Given the description of an element on the screen output the (x, y) to click on. 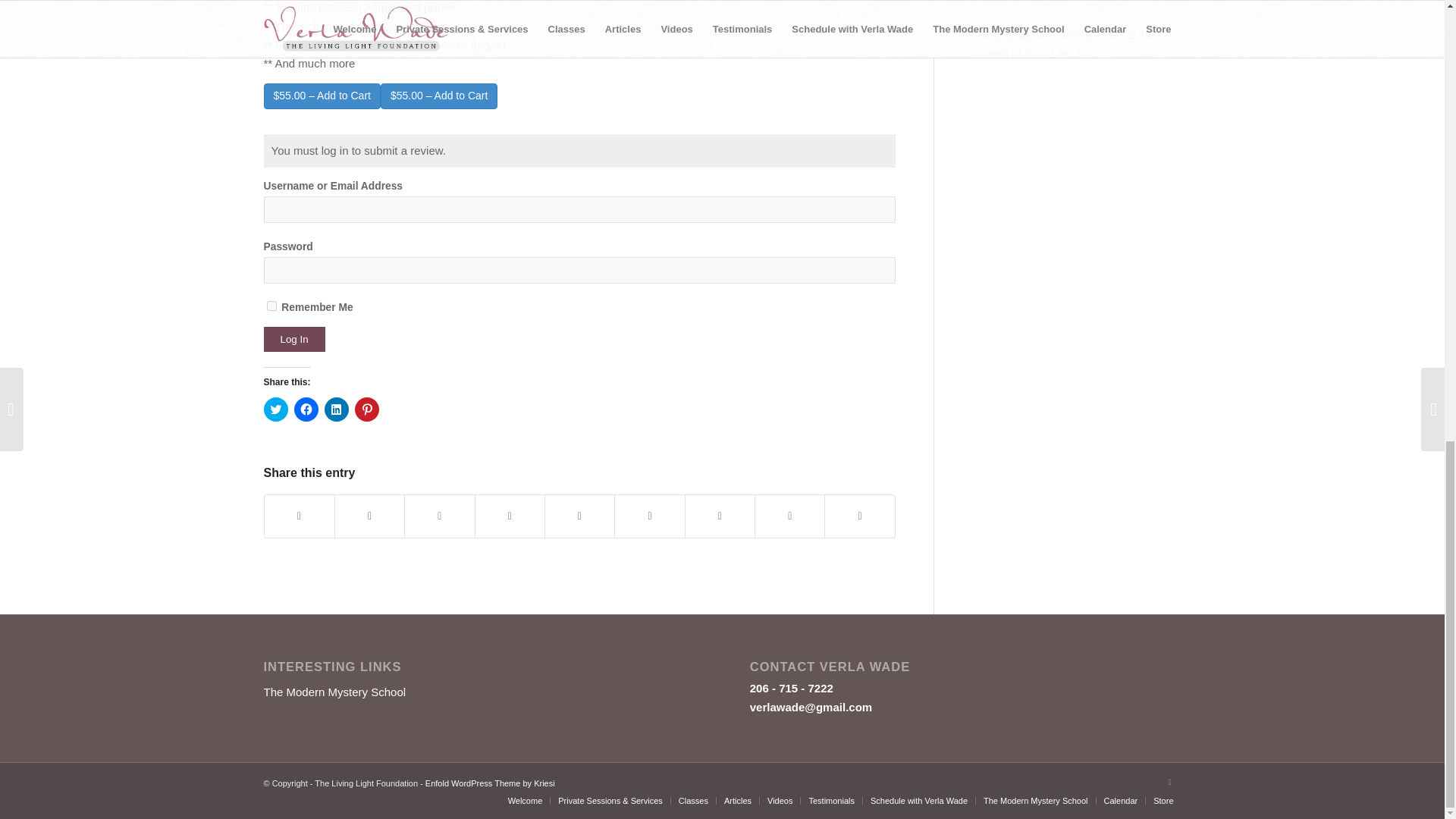
Click to share on Facebook (306, 409)
Log In (293, 339)
Click to share on LinkedIn (336, 409)
Click to share on Twitter (275, 409)
Click to share on Pinterest (366, 409)
forever (271, 306)
